Given the description of an element on the screen output the (x, y) to click on. 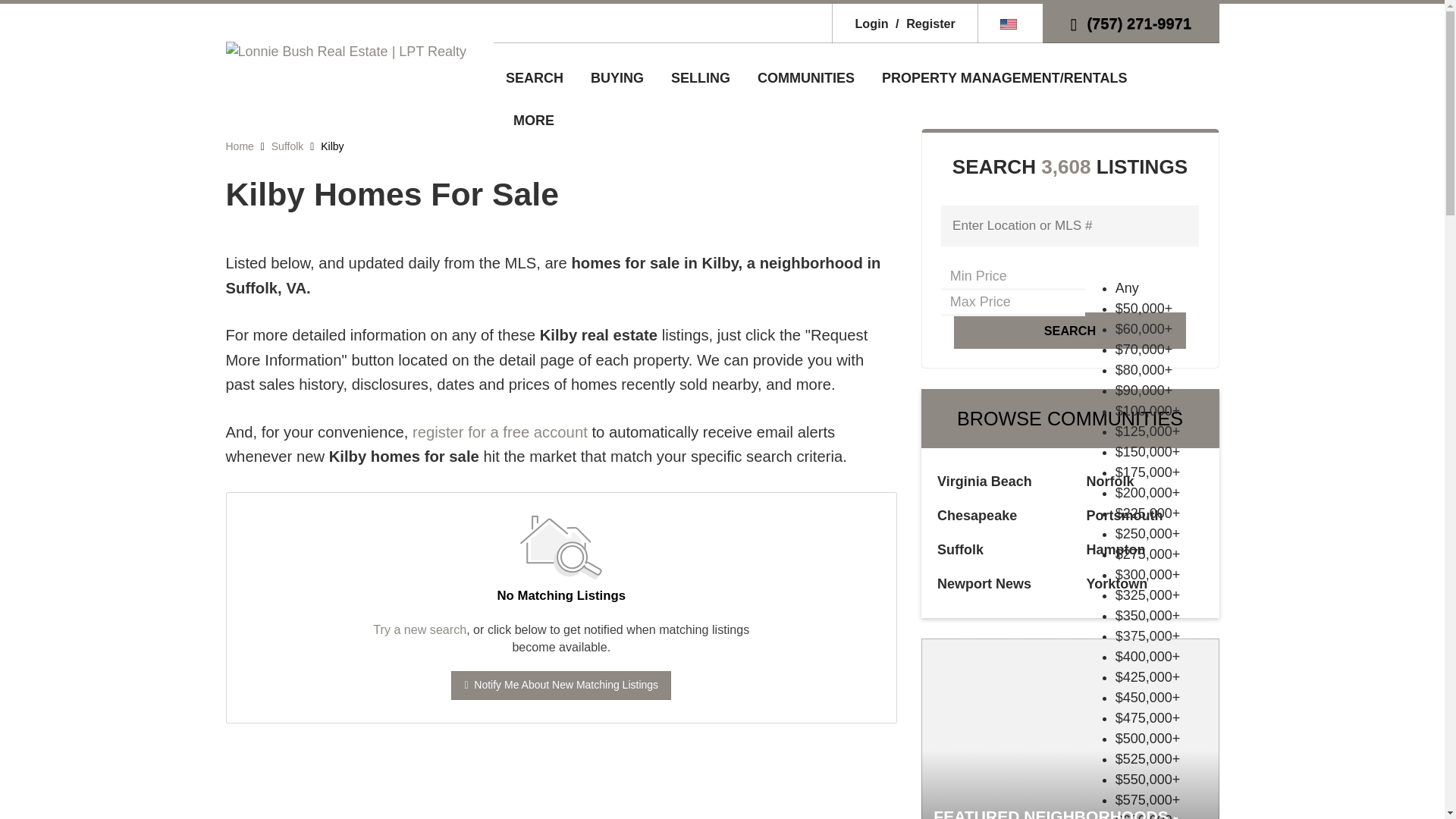
Email Listing Alerts (500, 432)
SEARCH (534, 77)
BUYING (617, 77)
Login (871, 23)
SELLING (700, 77)
Select Language (1010, 23)
Register (923, 23)
Home Page (346, 50)
